Given the description of an element on the screen output the (x, y) to click on. 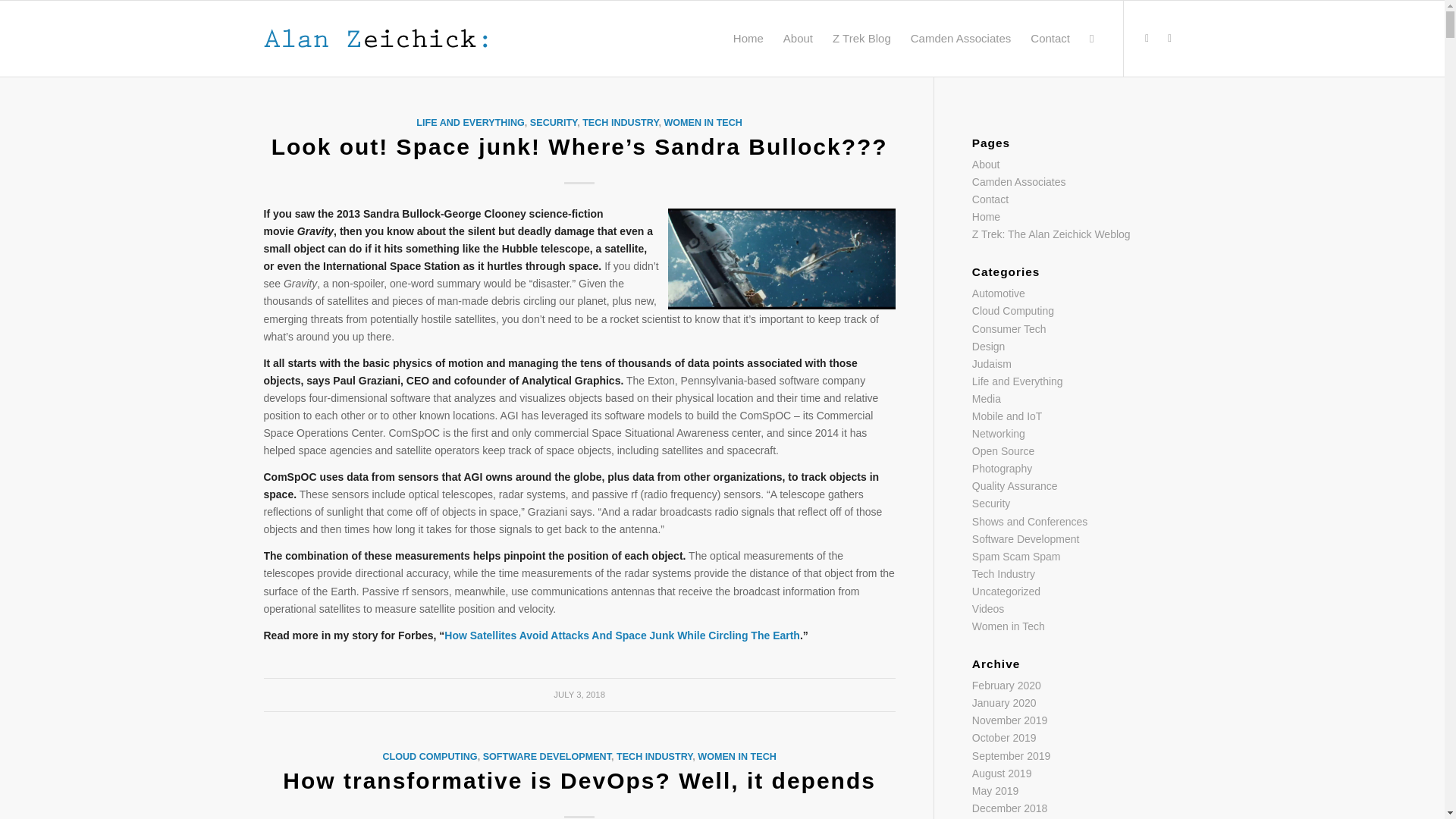
alan-zeichick-logo (375, 38)
CLOUD COMPUTING (429, 756)
How transformative is DevOps? Well, it depends (579, 780)
Z Trek Blog (861, 38)
WOMEN IN TECH (736, 756)
Twitter (1146, 37)
Camden Associates (961, 38)
SECURITY (552, 122)
LinkedIn (1169, 37)
WOMEN IN TECH (702, 122)
TECH INDUSTRY (620, 122)
TECH INDUSTRY (654, 756)
LIFE AND EVERYTHING (470, 122)
